Given the description of an element on the screen output the (x, y) to click on. 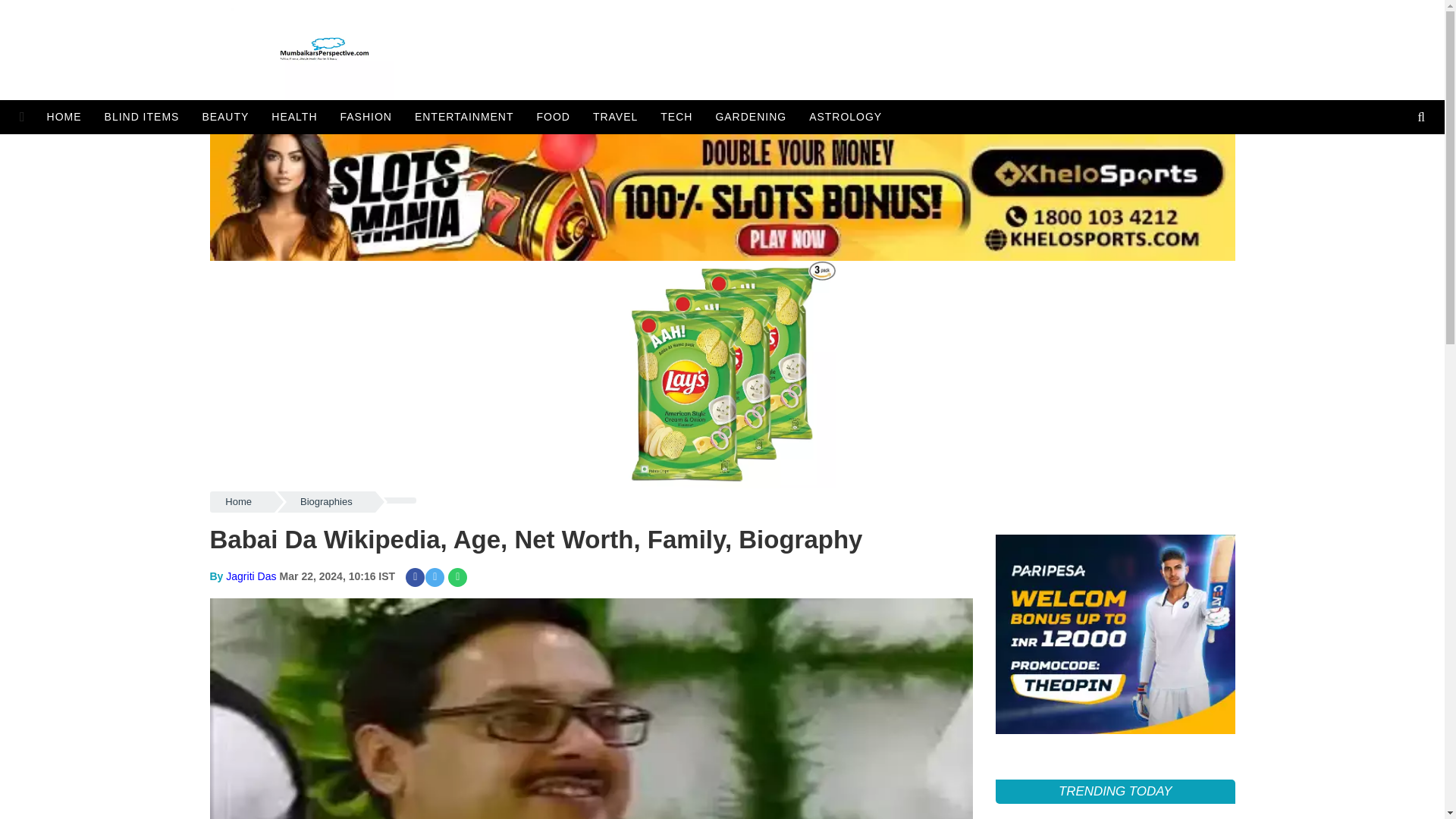
BLIND ITEMS (141, 116)
HEALTH (294, 116)
TRAVEL (614, 116)
ASTROLOGY (845, 116)
TECH (676, 116)
BEAUTY (225, 116)
FOOD (552, 116)
FASHION (366, 116)
ENTERTAINMENT (464, 116)
GARDENING (750, 116)
